Given the description of an element on the screen output the (x, y) to click on. 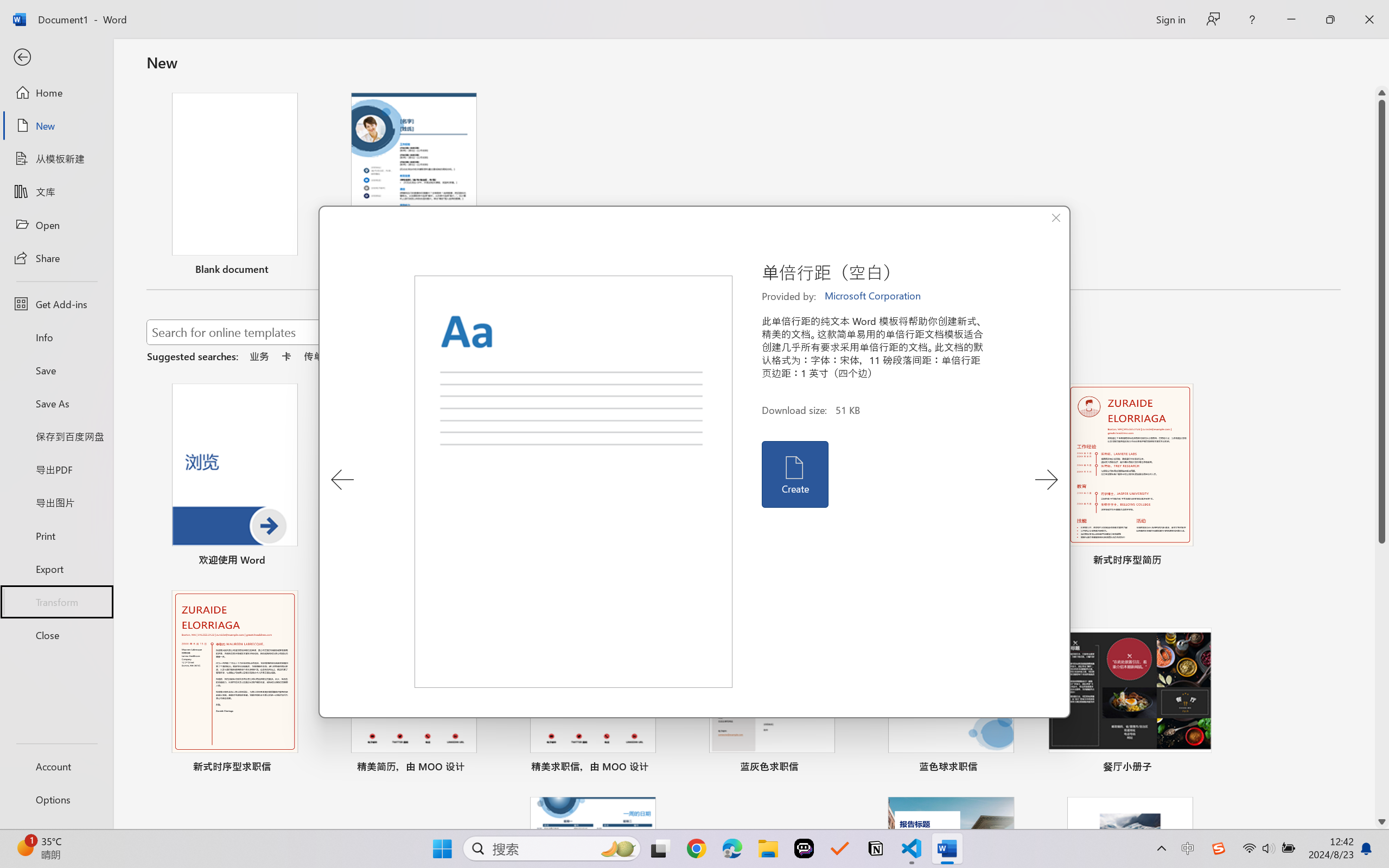
New (56, 125)
Account (56, 765)
Export (56, 568)
Microsoft Corporation (873, 296)
Transform (56, 601)
